Given the description of an element on the screen output the (x, y) to click on. 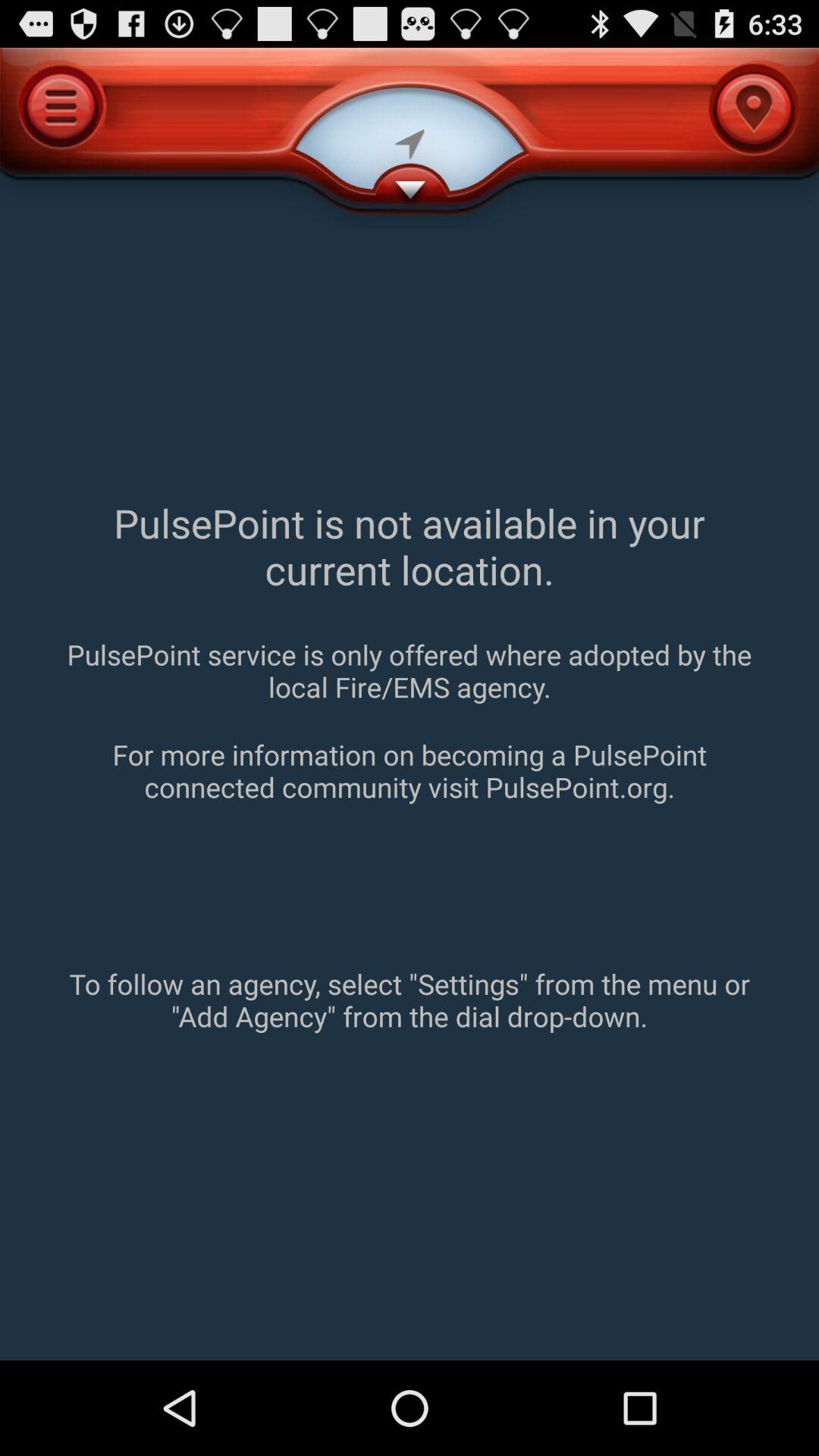
click the menu icon (60, 106)
click the location icon (753, 108)
select the icon next to the menu icon (409, 138)
select the 2nd icon to the left of menu icon (409, 143)
